Given the description of an element on the screen output the (x, y) to click on. 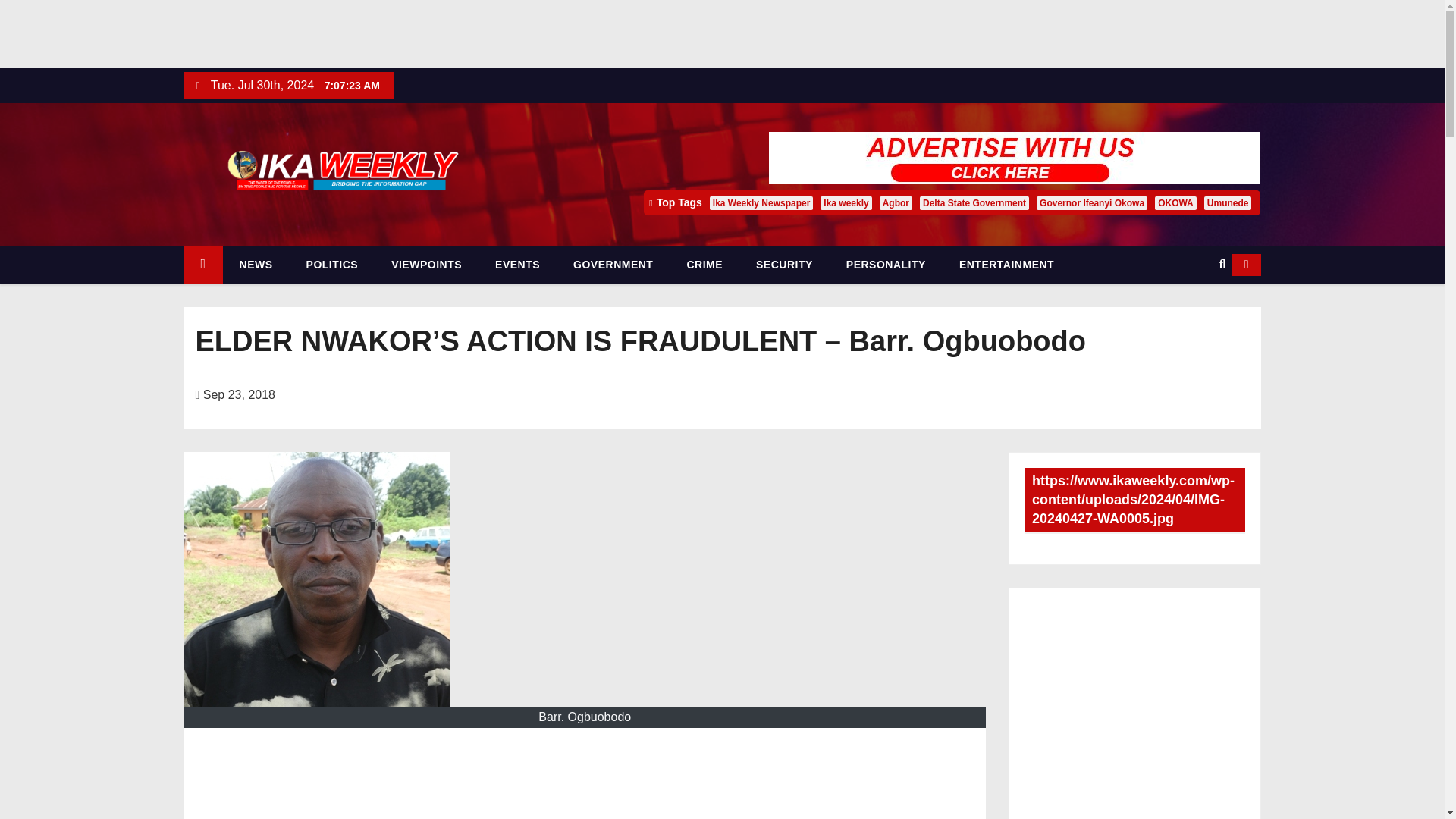
OKOWA (1175, 202)
POLITICS (332, 264)
NEWS (255, 264)
VIEWPOINTS (426, 264)
CRIME (704, 264)
Governor Ifeanyi Okowa (1091, 202)
EVENTS (517, 264)
VIEWPOINTS (426, 264)
ENTERTAINMENT (1006, 264)
EVENTS (517, 264)
ENTERTAINMENT (1006, 264)
CRIME (704, 264)
GOVERNMENT (612, 264)
SECURITY (784, 264)
Ika weekly (845, 202)
